Given the description of an element on the screen output the (x, y) to click on. 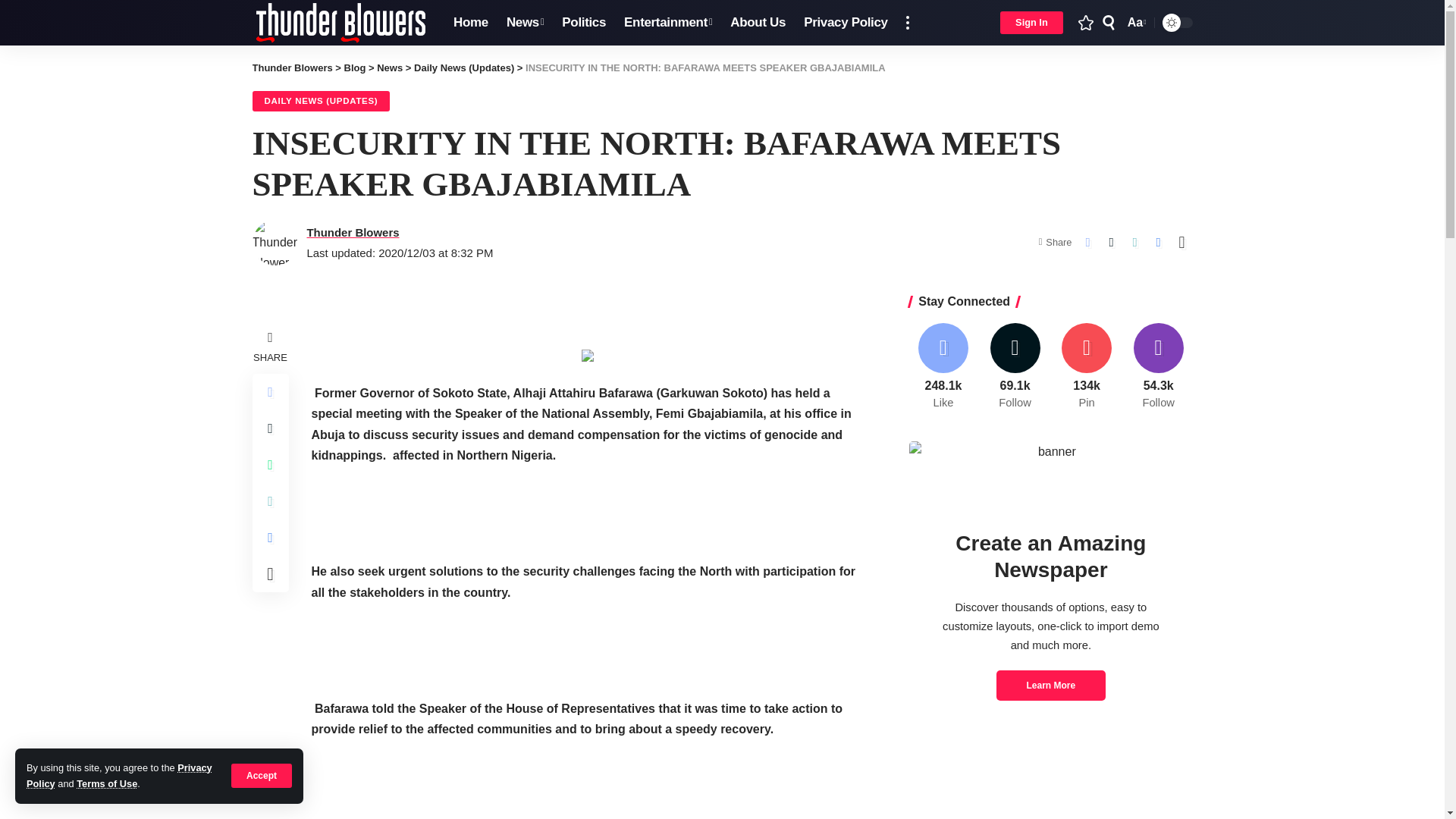
Sign In (1031, 22)
News (525, 22)
Go to Blog. (354, 67)
Accept (261, 775)
Home (1135, 22)
Privacy Policy (470, 22)
About Us (119, 775)
Go to the News Category archives. (757, 22)
Privacy Policy (390, 67)
